Given the description of an element on the screen output the (x, y) to click on. 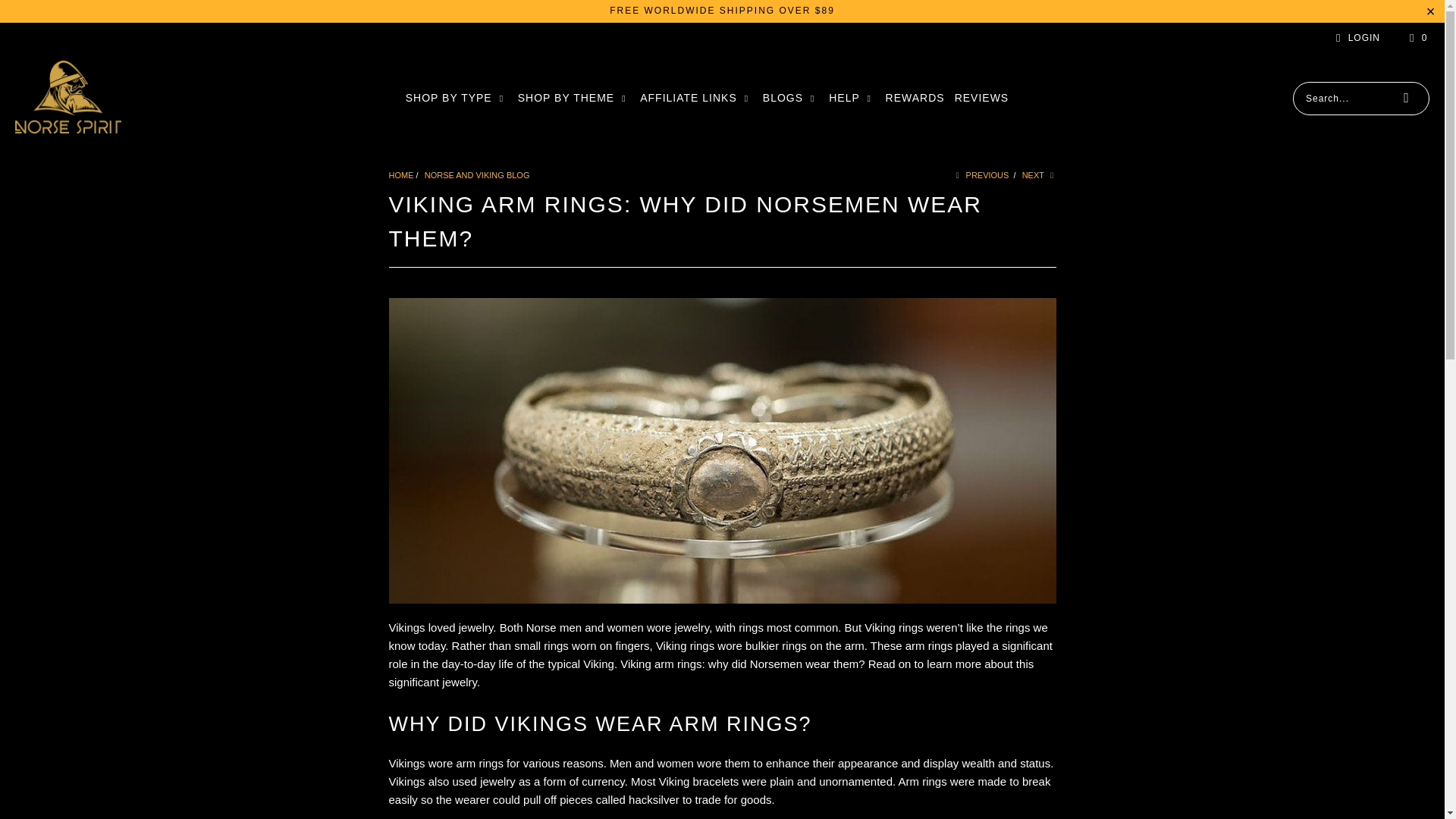
Norse and Viking Blog (477, 174)
My Account  (1355, 37)
Norse Spirit (400, 174)
Norse Spirit (67, 97)
